Given the description of an element on the screen output the (x, y) to click on. 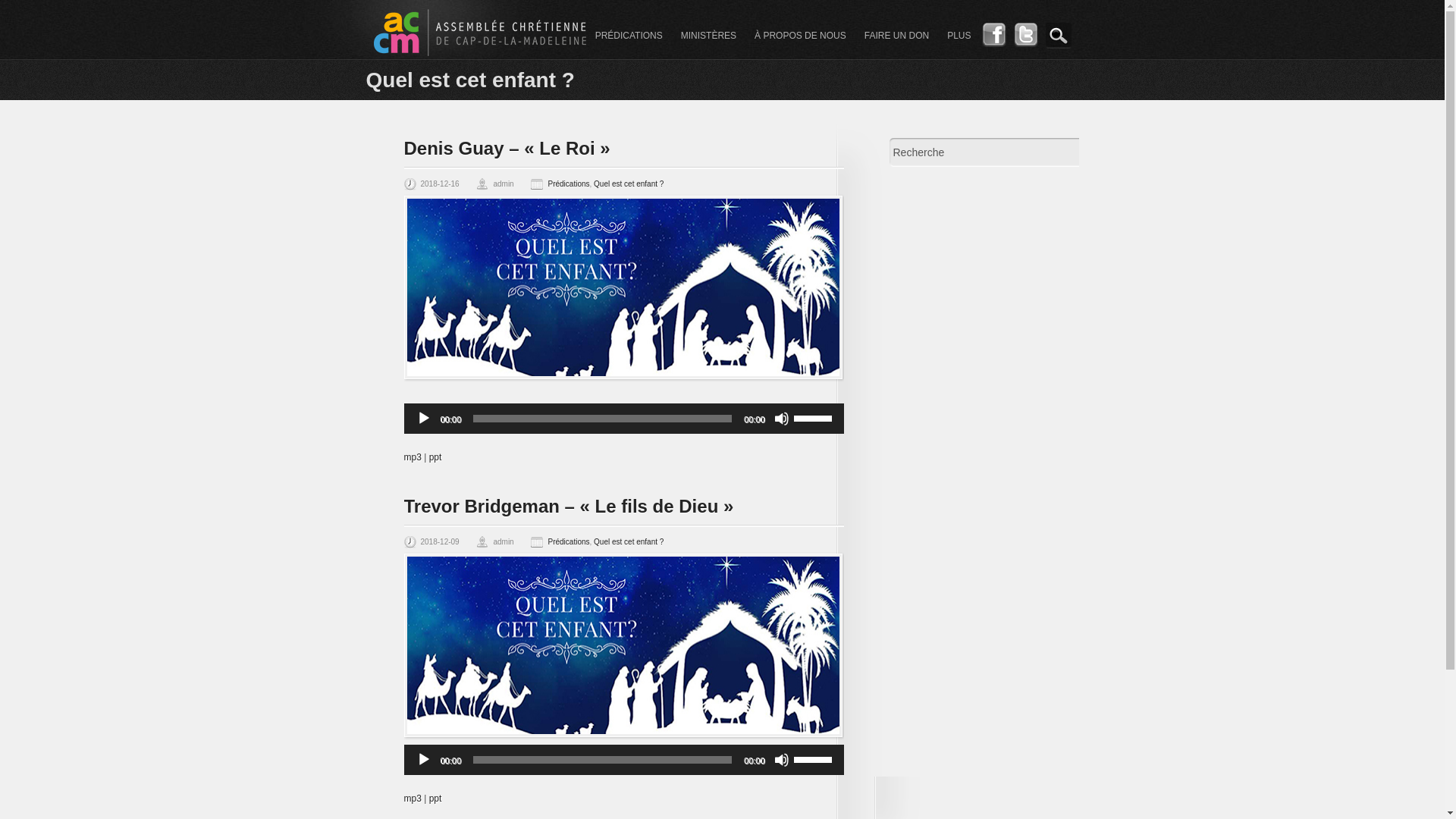
Muet Element type: hover (780, 418)
mp3 Element type: text (411, 456)
Quel est cet enfant ? Element type: text (628, 541)
mp3 Element type: text (411, 798)
FAIRE UN DON Element type: text (896, 36)
Lecture Element type: hover (422, 759)
Facebook Element type: hover (993, 43)
Twitter Element type: hover (1025, 43)
Muet Element type: hover (780, 759)
Quel est cet enfant ? Element type: text (628, 183)
ppt Element type: text (435, 456)
Lecture Element type: hover (422, 418)
ppt Element type: text (435, 798)
